Given the description of an element on the screen output the (x, y) to click on. 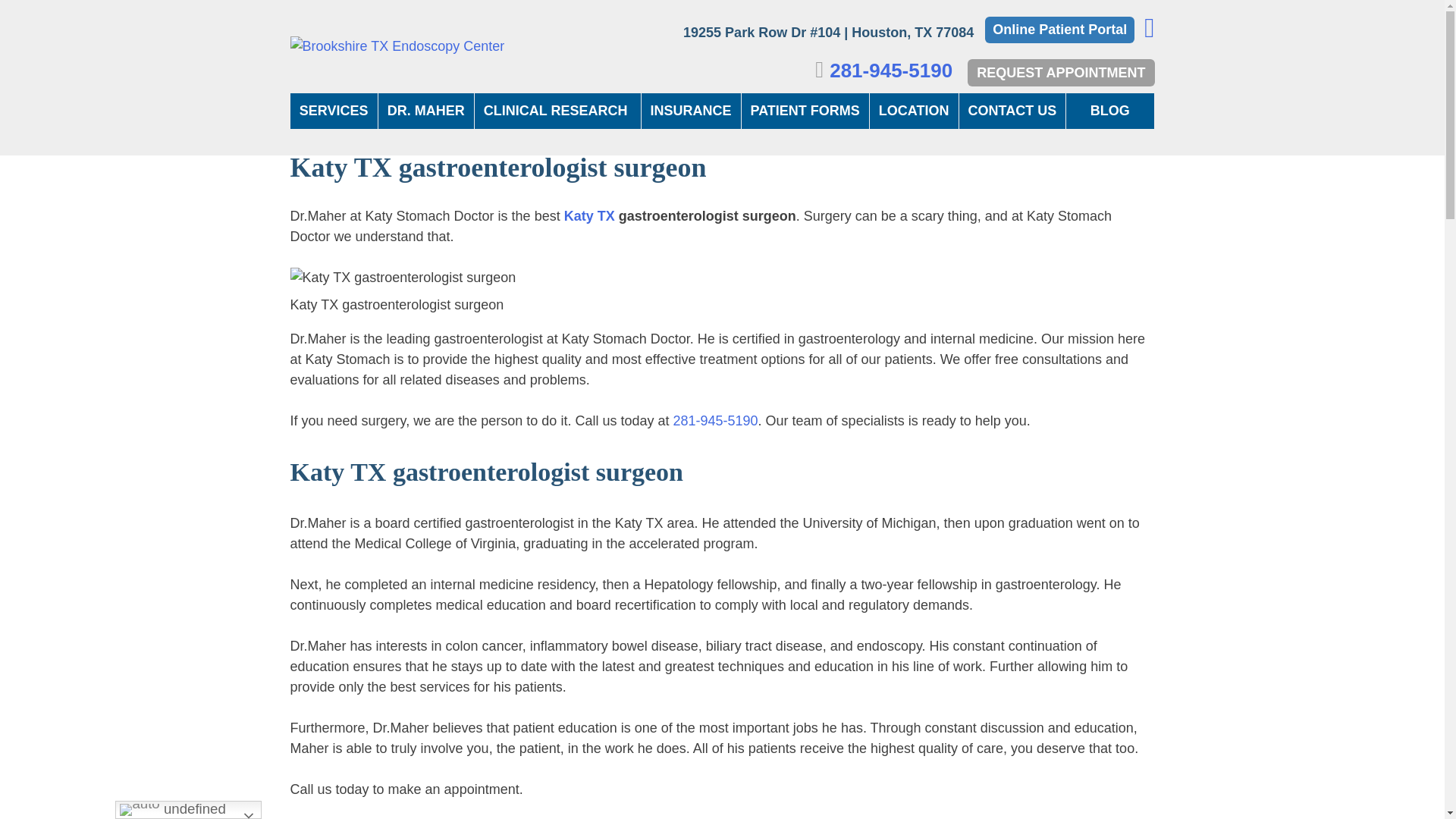
Katy TX (589, 215)
LOCATION (913, 110)
INSURANCE (691, 110)
CONTACT US (1012, 110)
281-945-5190 (890, 69)
REQUEST APPOINTMENT (1061, 72)
CLINICAL RESEARCH  (557, 110)
DR. MAHER (426, 110)
-945-5190 (726, 420)
SERVICES (333, 110)
BLOG (1109, 110)
Online Patient Portal (1059, 29)
undefined (188, 809)
PATIENT FORMS (805, 110)
281 (683, 420)
